Given the description of an element on the screen output the (x, y) to click on. 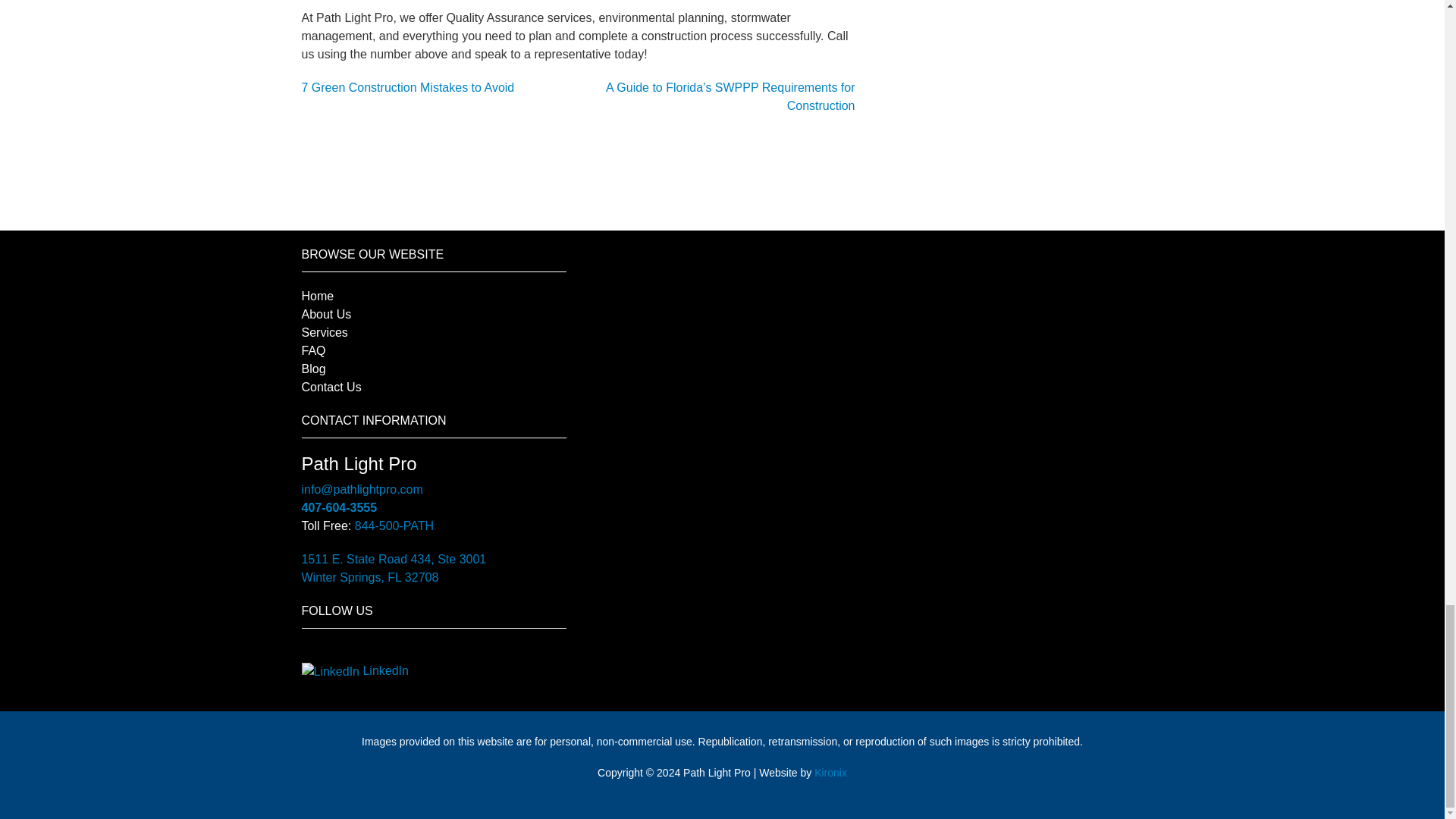
7 Green Construction Mistakes to Avoid (408, 87)
Home (317, 295)
About Us (326, 314)
